Given the description of an element on the screen output the (x, y) to click on. 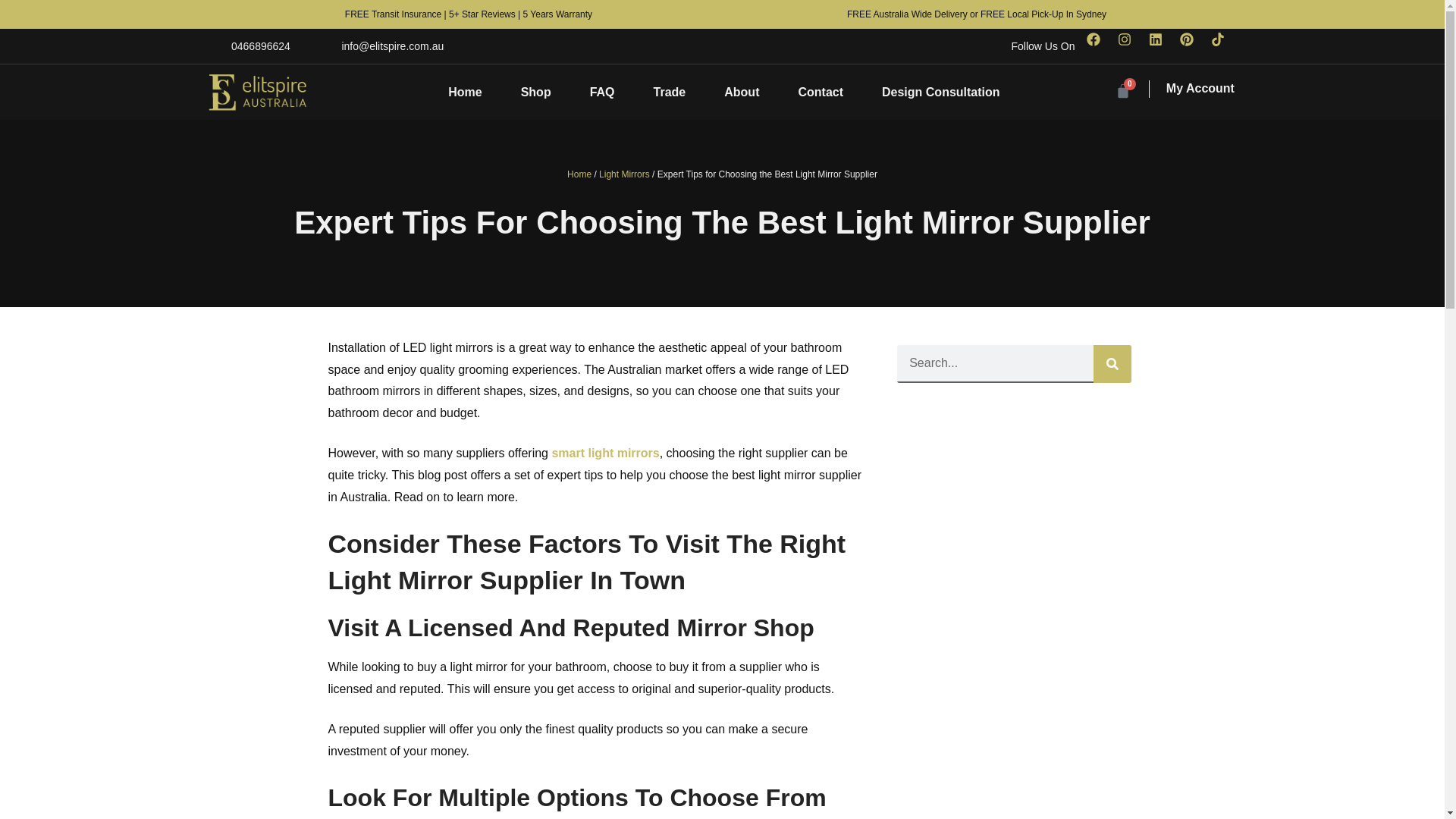
Home (579, 173)
smart light mirrors (605, 452)
About (740, 91)
Home (464, 91)
My Account (1200, 88)
Shop (536, 91)
Trade (669, 91)
Design Consultation (941, 91)
0466896624 (247, 45)
Contact (820, 91)
